Given the description of an element on the screen output the (x, y) to click on. 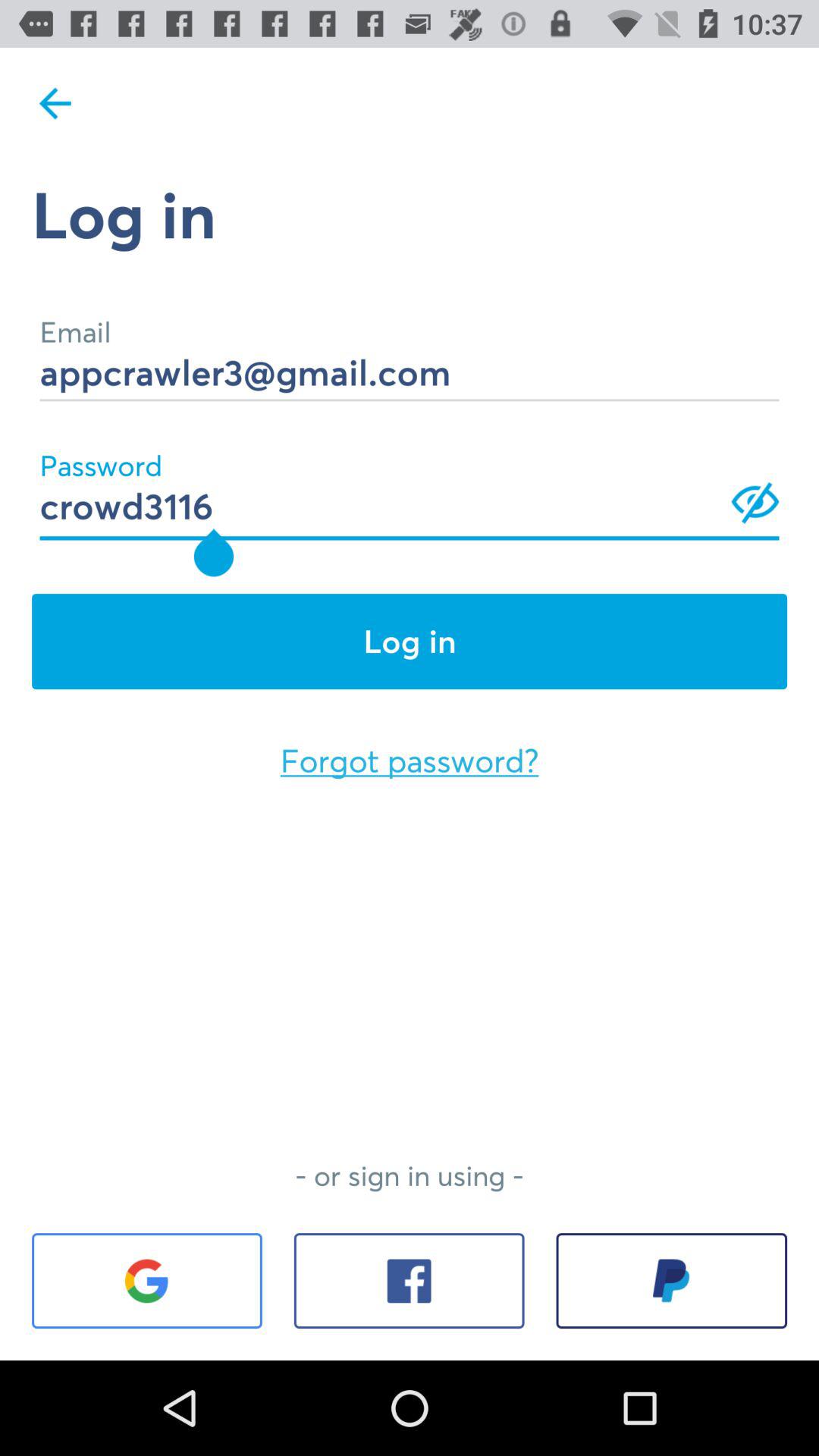
tap item below the log in icon (409, 351)
